Given the description of an element on the screen output the (x, y) to click on. 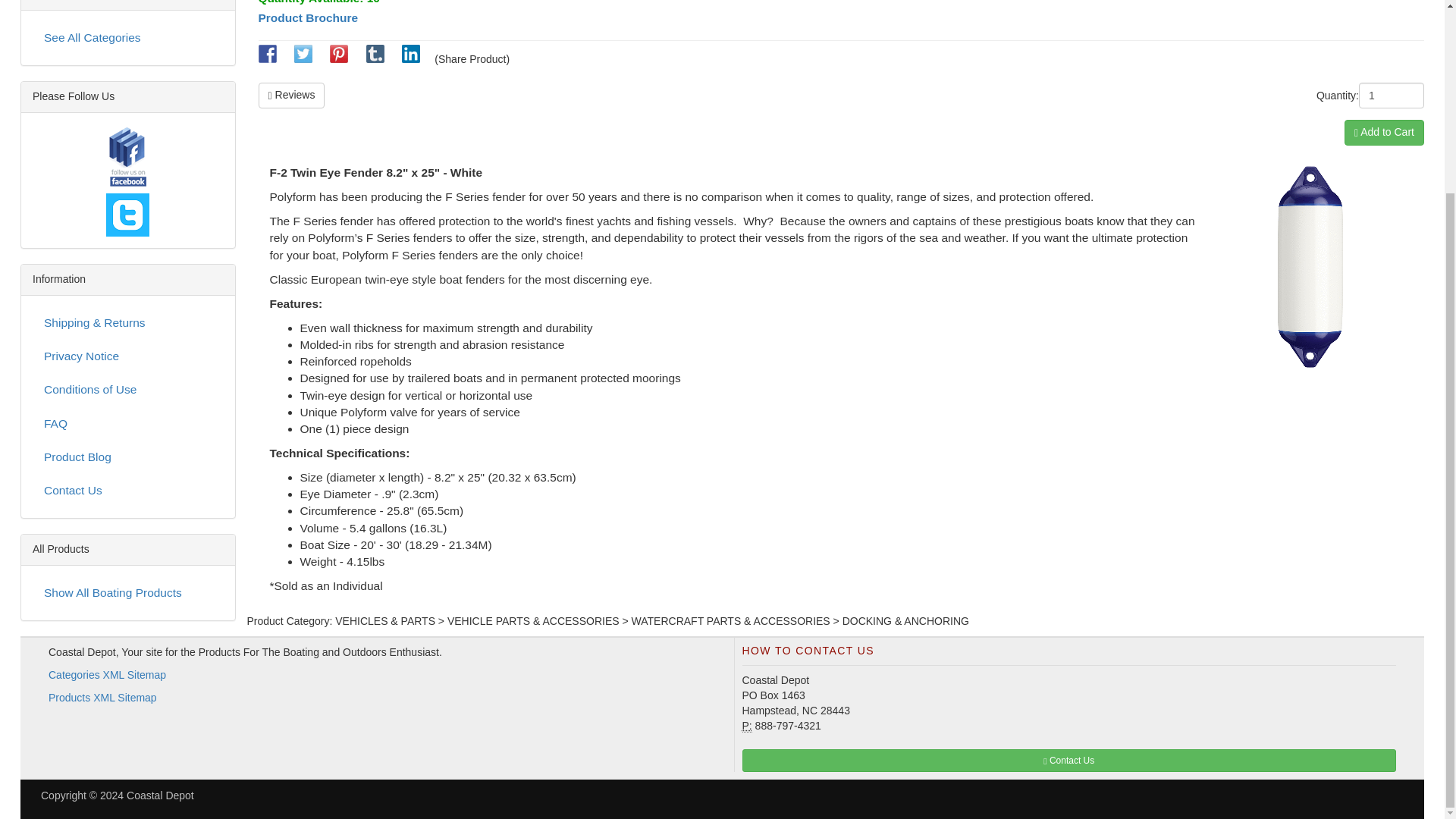
Products XML Site MAP (102, 697)
Conditions of Use (128, 389)
Product Brochure (307, 17)
Add to Cart (1383, 132)
Share on Facebook (266, 59)
Reviews (290, 95)
Contact Us (128, 490)
Pin it with Pinterest (338, 59)
Facebook (127, 158)
Share on linkedin (410, 59)
1 (1390, 95)
Share on Twitter (303, 59)
Show All Boating Products (128, 593)
Twitter (127, 214)
Coastal Depot Categories (128, 38)
